Given the description of an element on the screen output the (x, y) to click on. 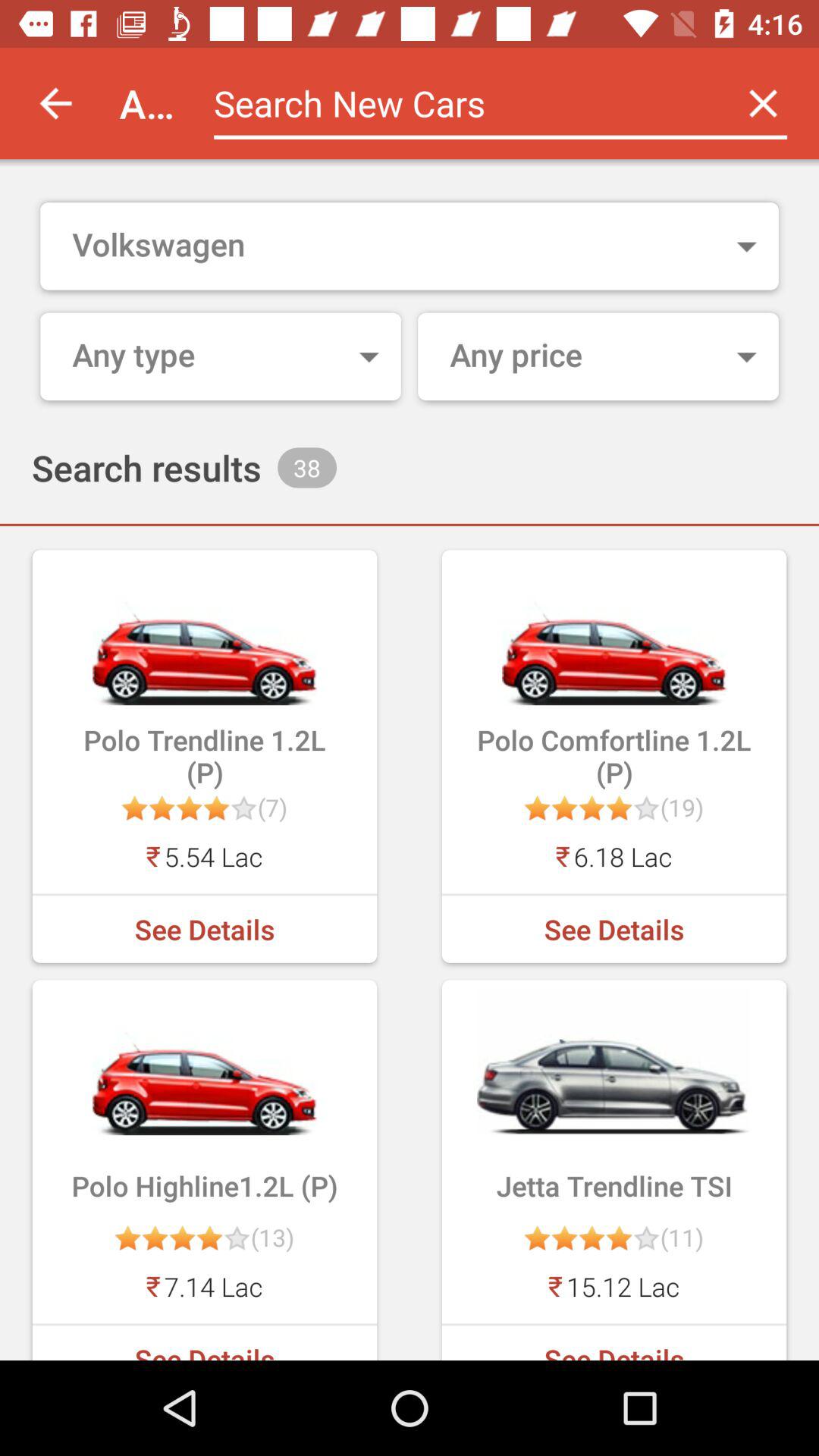
launch the icon next to the autoportal app (55, 103)
